Given the description of an element on the screen output the (x, y) to click on. 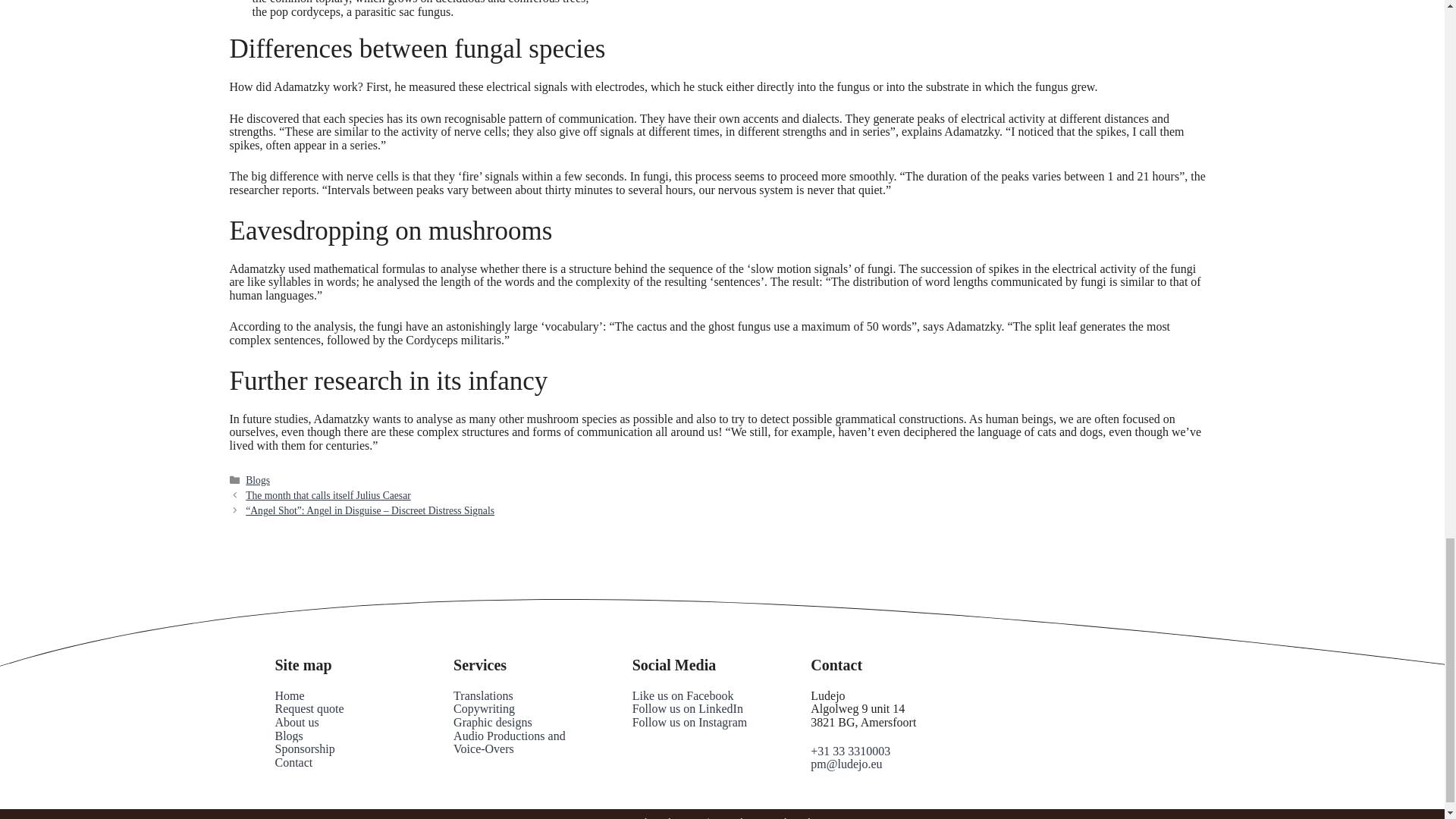
The month that calls itself Julius Caesar (328, 495)
Translations (482, 695)
Copywriting (483, 707)
Blogs (288, 735)
Sponsorship (304, 748)
Follow us on Instagram (689, 721)
About us (296, 721)
Blogs (257, 480)
Like us on Facebook (682, 695)
Contact (294, 762)
Audio Productions and Voice-Overs (509, 742)
Request quote (309, 707)
Follow us on LinkedIn (686, 707)
Graphic designs (492, 721)
Home (289, 695)
